Given the description of an element on the screen output the (x, y) to click on. 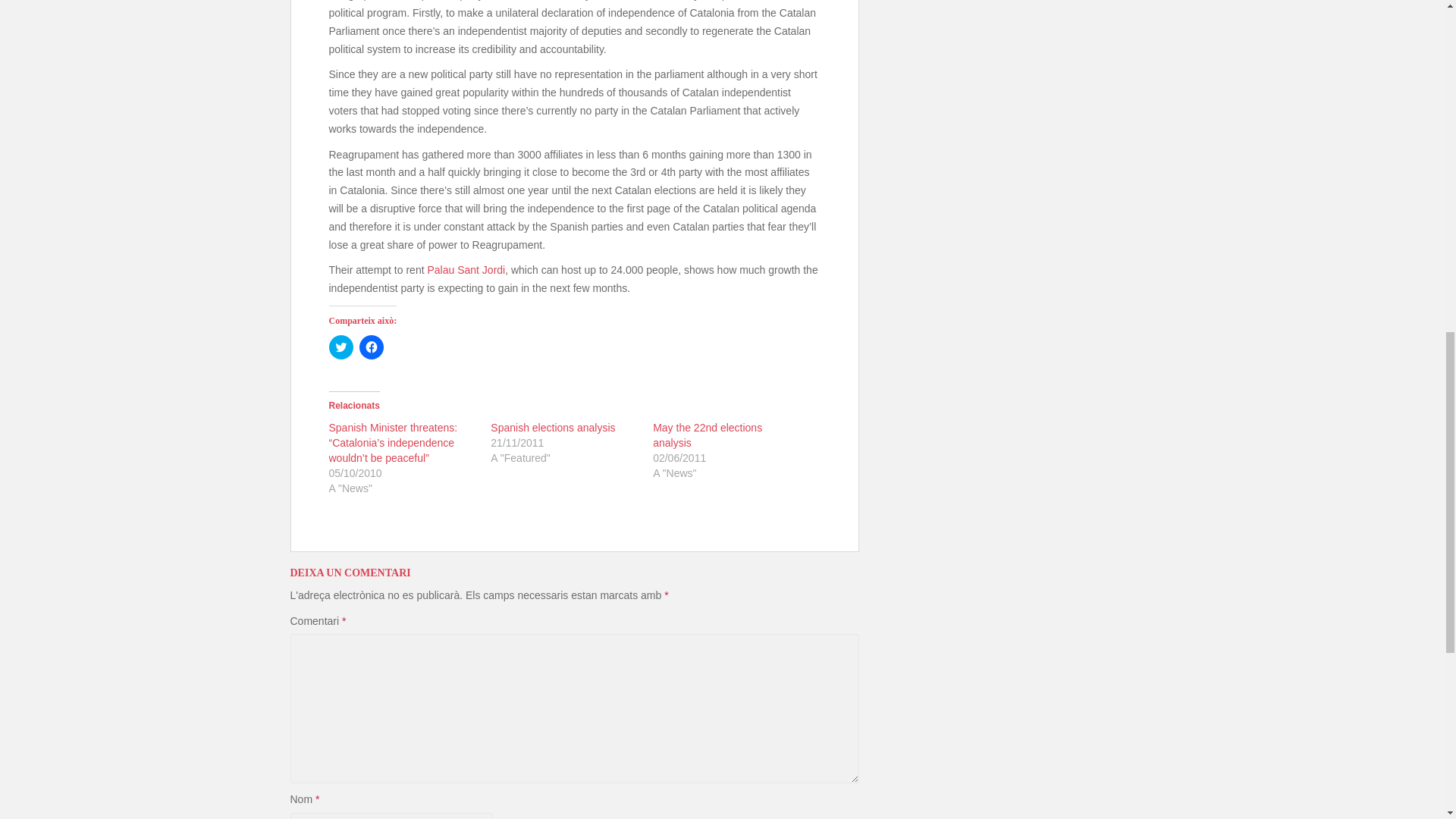
Feu clic per compartir al Facebook (371, 346)
Spanish elections analysis (552, 427)
Palau Sant Jordi (465, 269)
Spanish elections analysis (552, 427)
Feu clic per compartir al Twitter (341, 346)
May the 22nd elections analysis (706, 434)
May the 22nd elections analysis (706, 434)
